Given the description of an element on the screen output the (x, y) to click on. 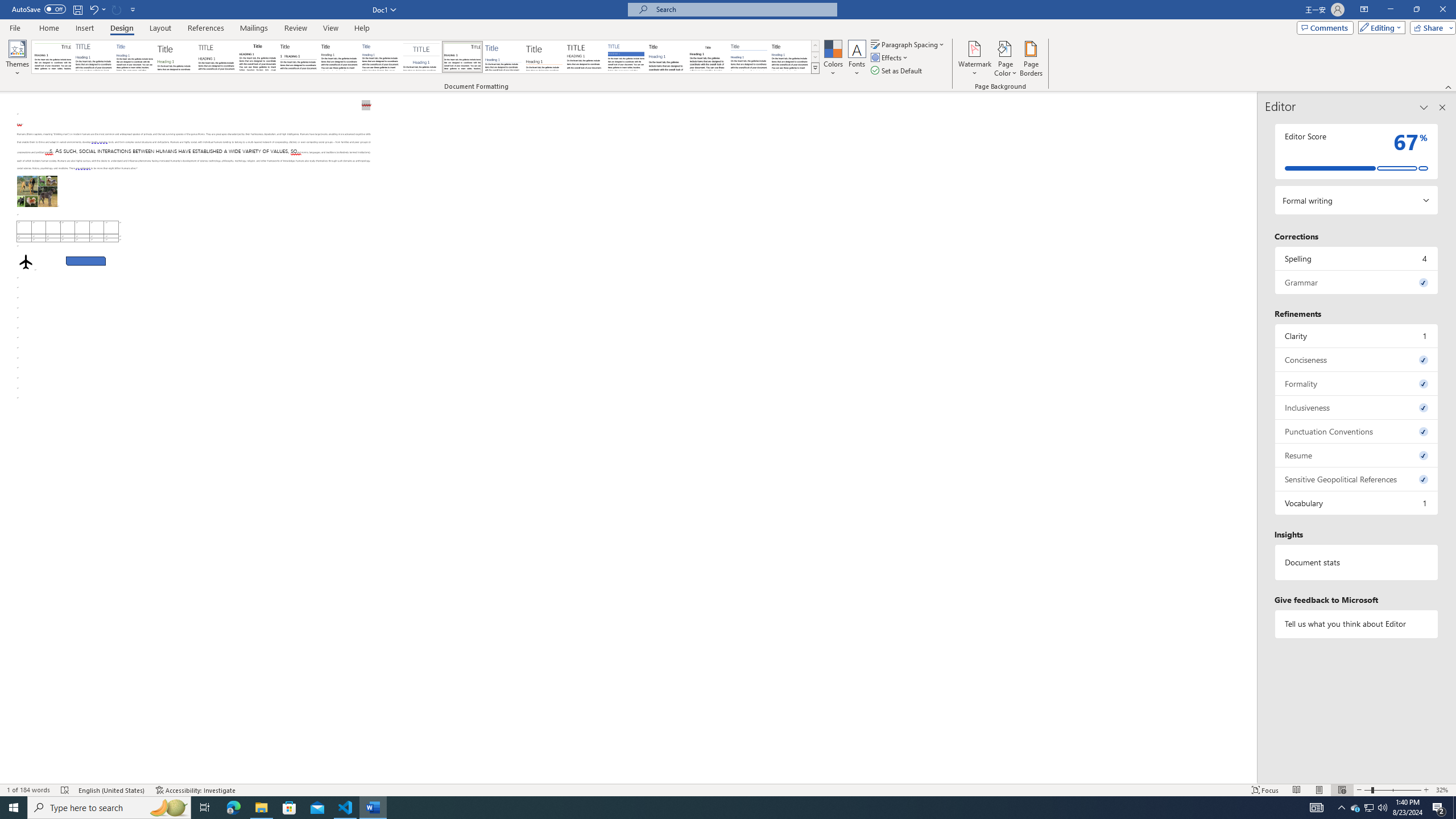
Colors (832, 58)
Word 2003 (707, 56)
Word 2010 (749, 56)
Style Set (814, 67)
Undo Apply Quick Style Set (96, 9)
Page Color (1005, 58)
